Given the description of an element on the screen output the (x, y) to click on. 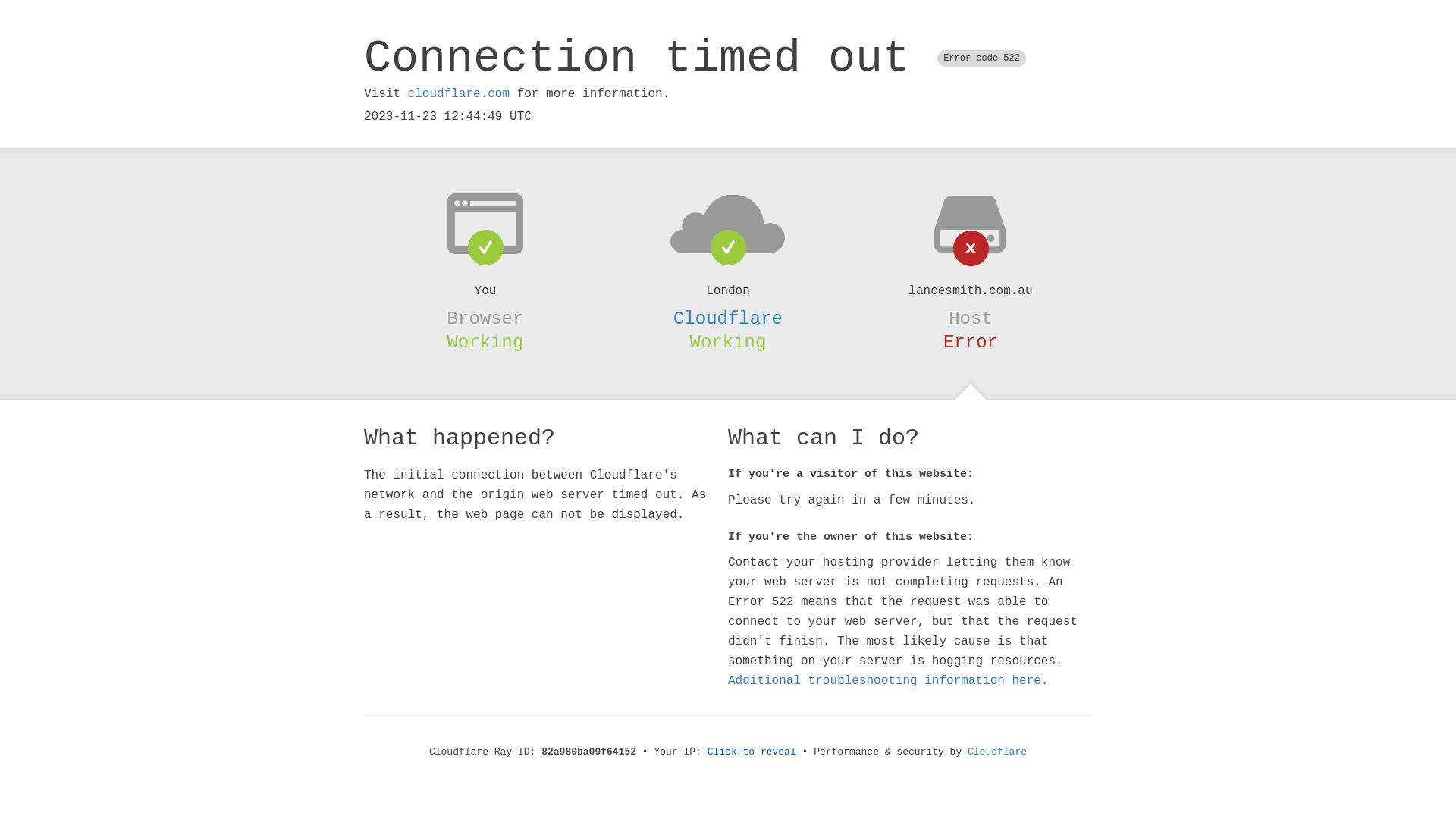
Cloudflare Element type: text (727, 318)
Cloudflare Element type: text (996, 751)
cloudflare.com Element type: text (458, 93)
Additional troubleshooting information here. Element type: text (888, 680)
Click to reveal Element type: text (751, 751)
